Given the description of an element on the screen output the (x, y) to click on. 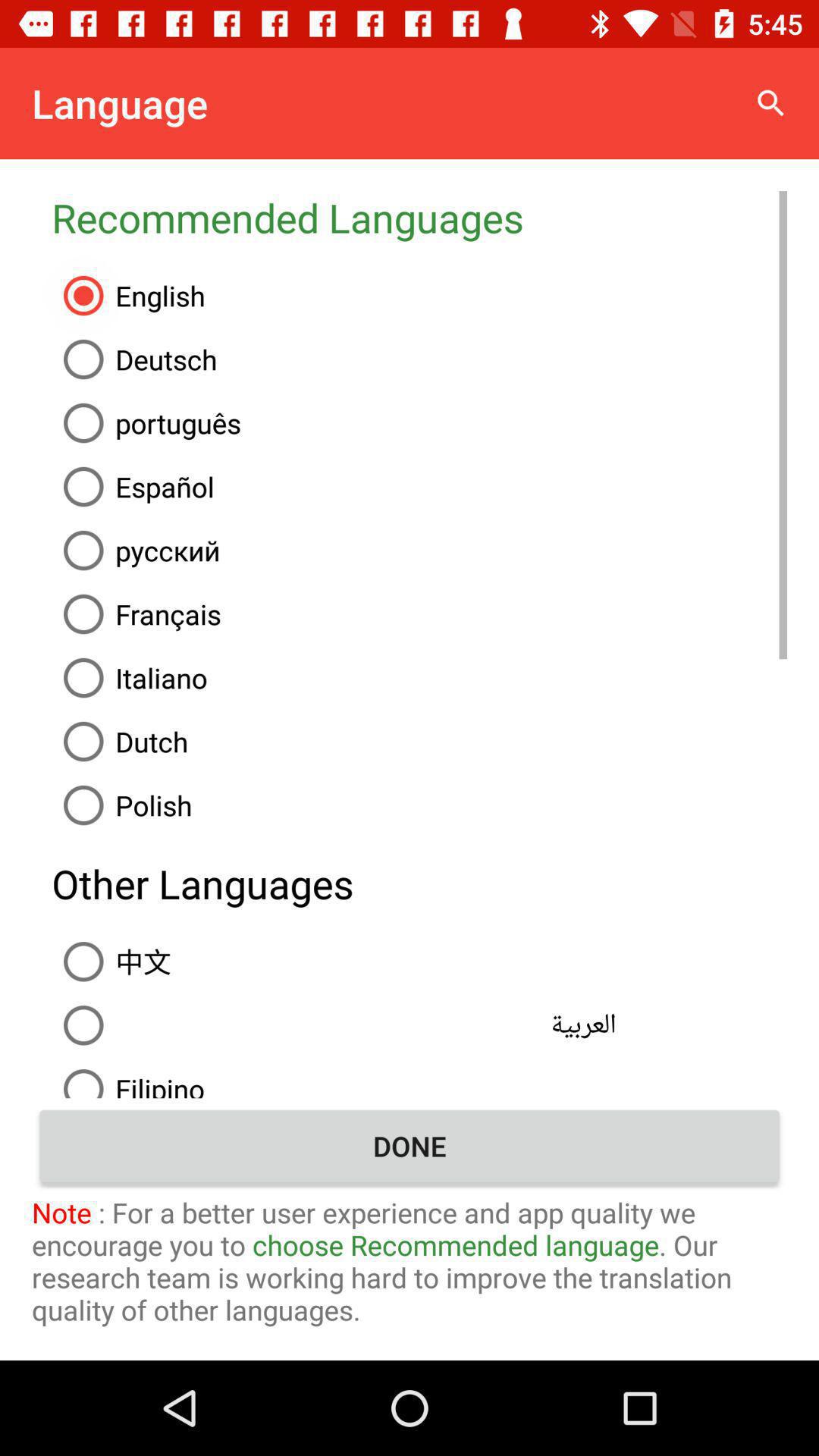
press item above the deutsch (419, 295)
